Given the description of an element on the screen output the (x, y) to click on. 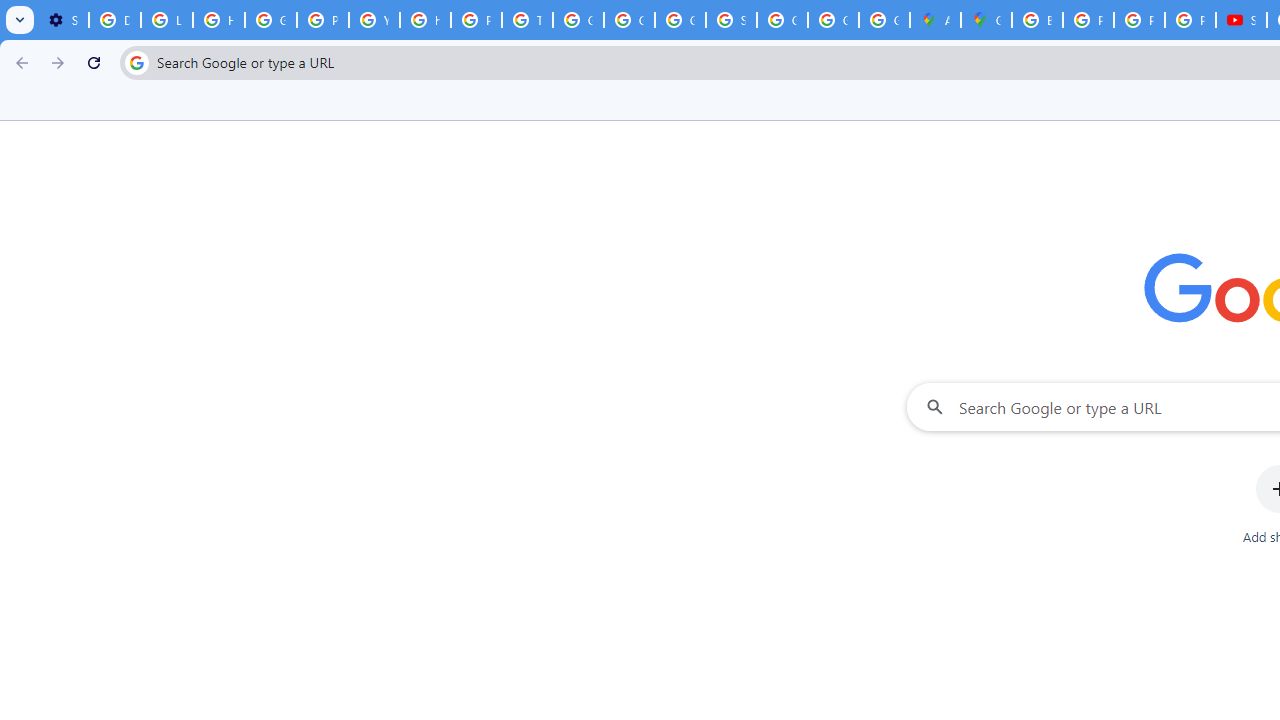
Google Maps (986, 20)
Settings - Customize profile (63, 20)
Learn how to find your photos - Google Photos Help (166, 20)
https://scholar.google.com/ (424, 20)
Privacy Help Center - Policies Help (475, 20)
Privacy Help Center - Policies Help (1138, 20)
